Given the description of an element on the screen output the (x, y) to click on. 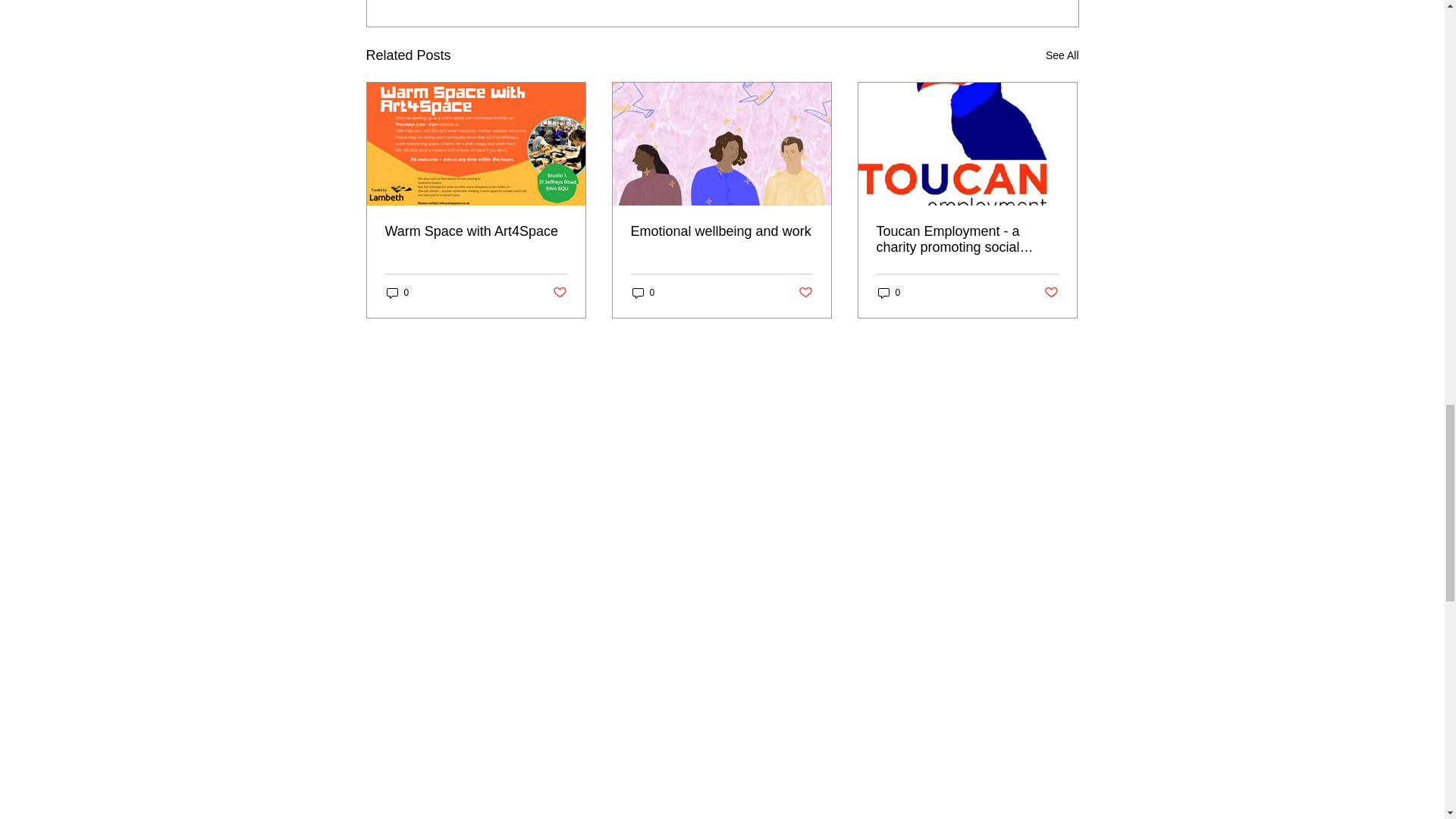
Post not marked as liked (558, 293)
Post not marked as liked (1050, 293)
0 (889, 292)
See All (1061, 55)
0 (397, 292)
0 (643, 292)
Emotional wellbeing and work (721, 231)
Post not marked as liked (804, 293)
Warm Space with Art4Space (476, 231)
Toucan Employment - a charity promoting social inclusion (967, 239)
